Given the description of an element on the screen output the (x, y) to click on. 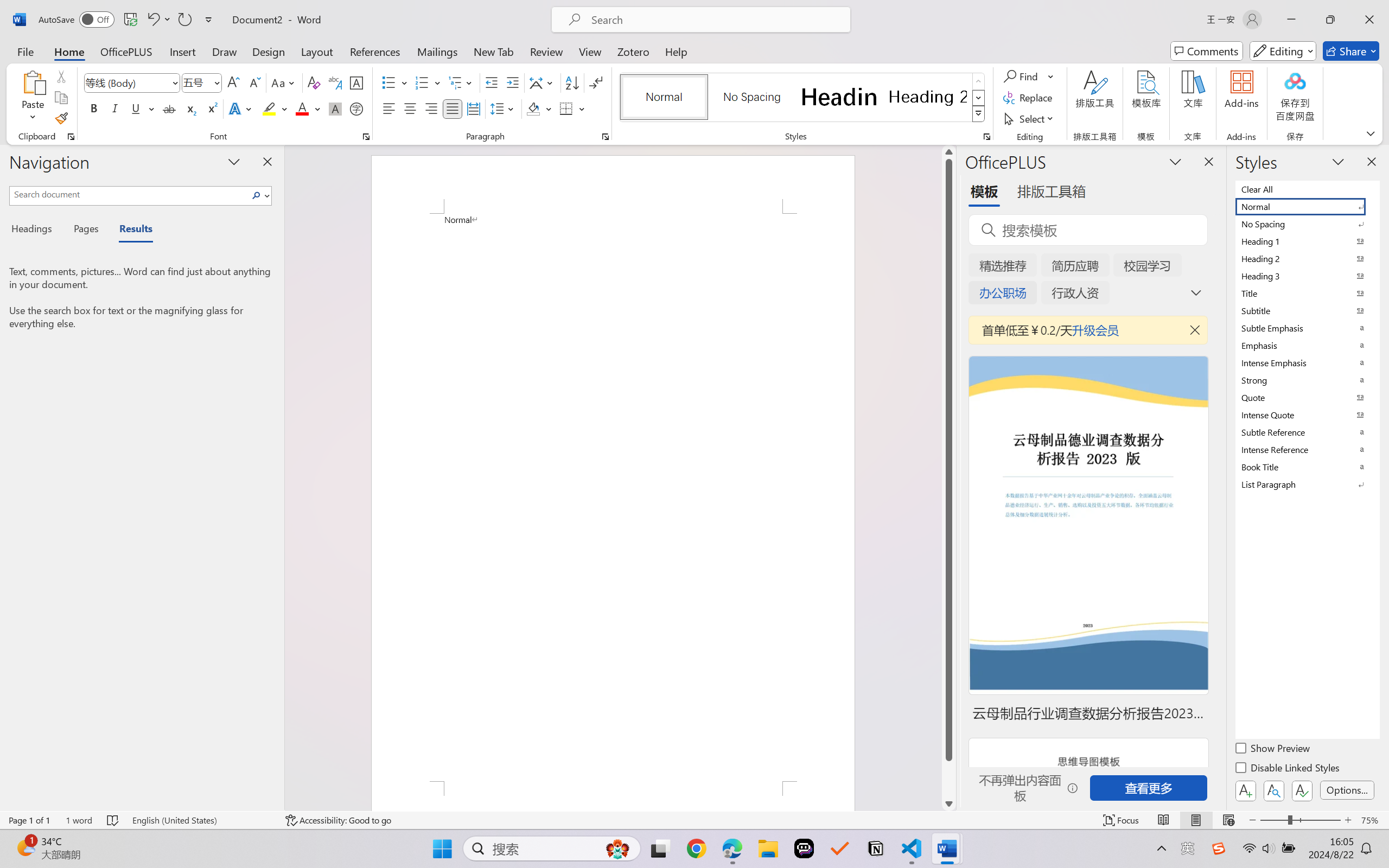
Grow Font (233, 82)
Center (409, 108)
Ribbon Display Options (1370, 132)
Font Size (196, 82)
Row Down (978, 97)
Italic (115, 108)
Mode (1283, 50)
Headings (35, 229)
References (375, 51)
Borders (566, 108)
Review (546, 51)
